Given the description of an element on the screen output the (x, y) to click on. 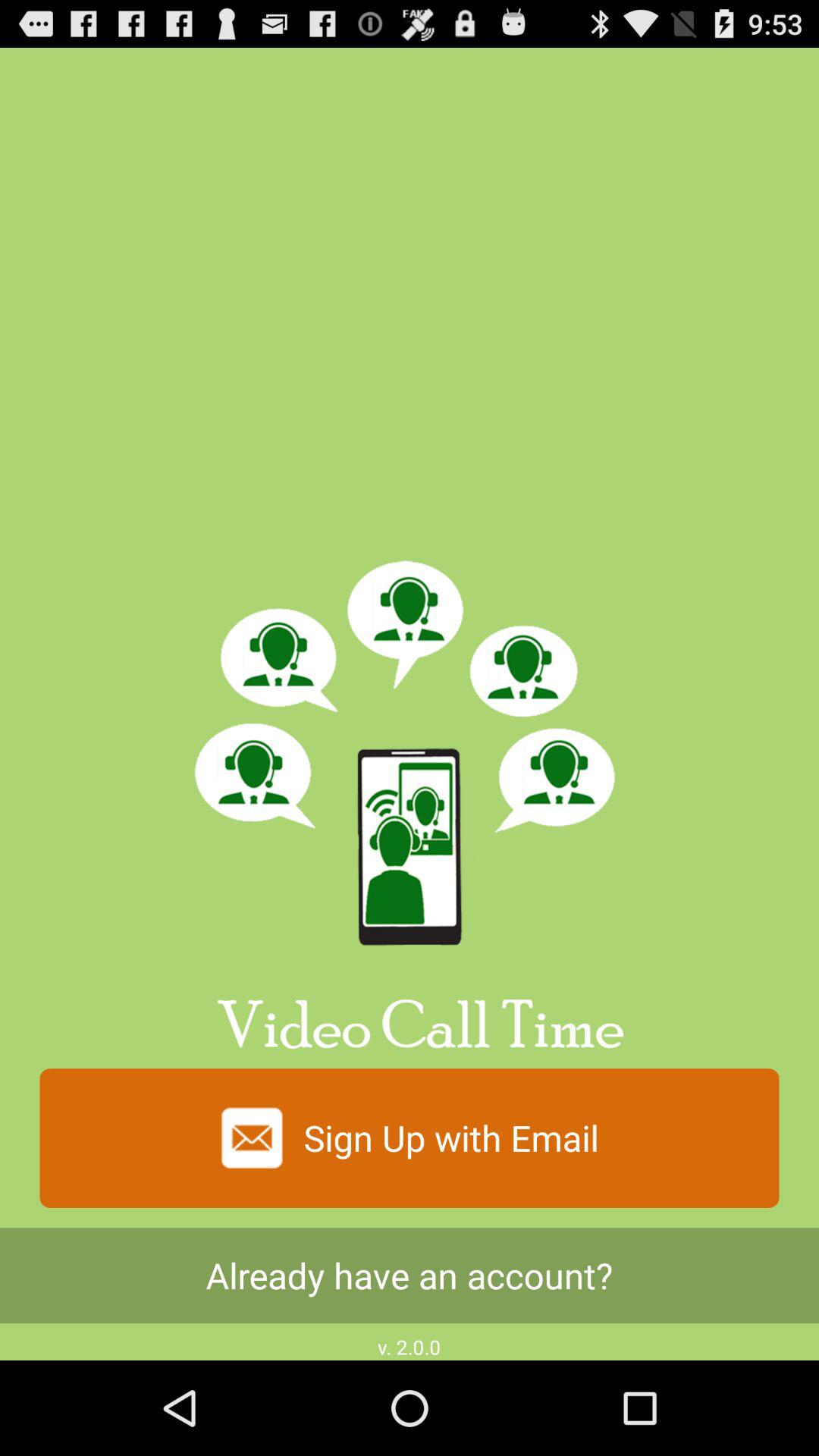
open already have an item (409, 1275)
